Given the description of an element on the screen output the (x, y) to click on. 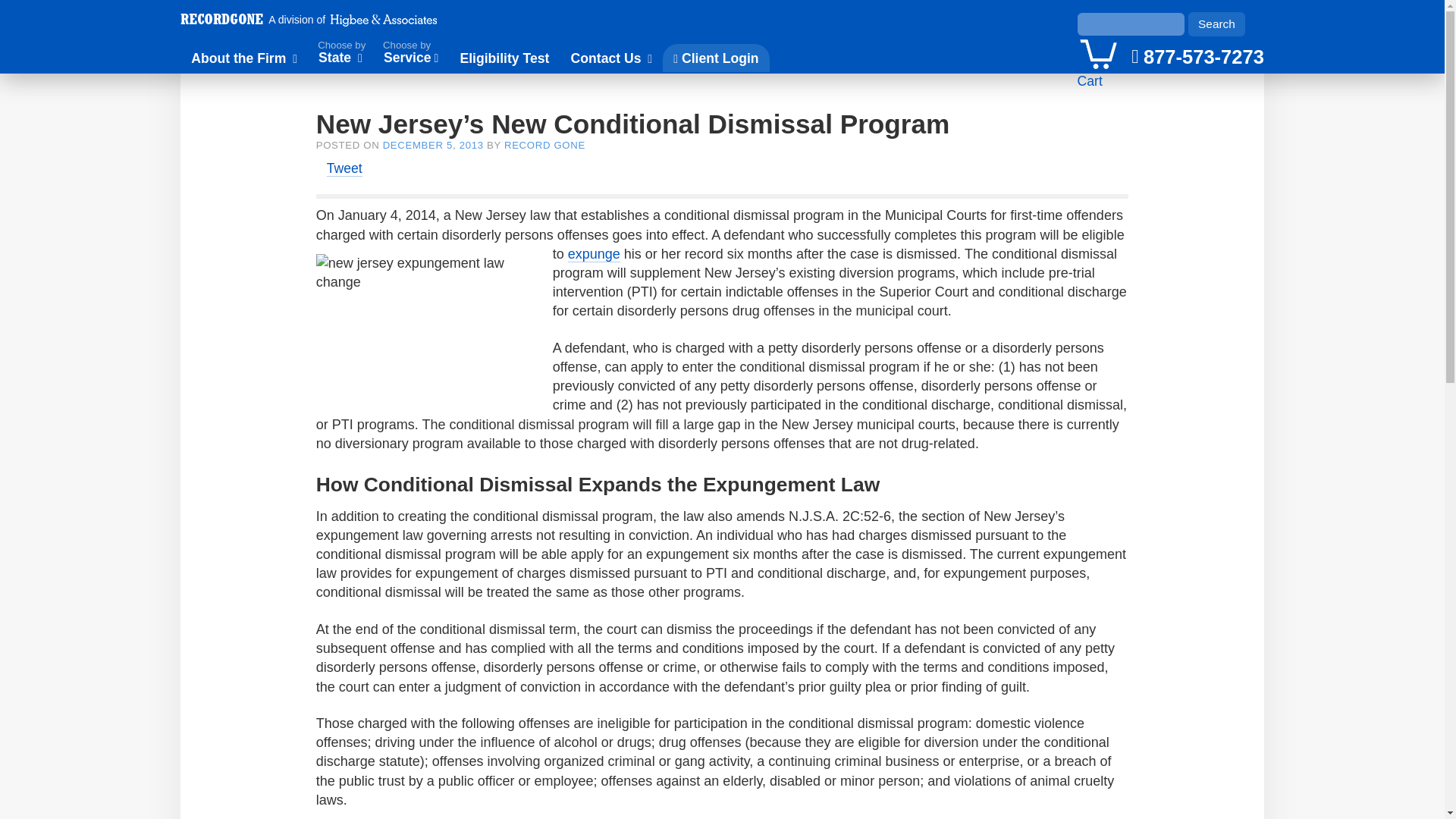
List of Services (410, 54)
Services by State (339, 54)
Your available services (1098, 52)
Eligibility Test (503, 58)
View all posts by Record Gone (544, 144)
5:18 pm (432, 144)
Search (1216, 24)
